Given the description of an element on the screen output the (x, y) to click on. 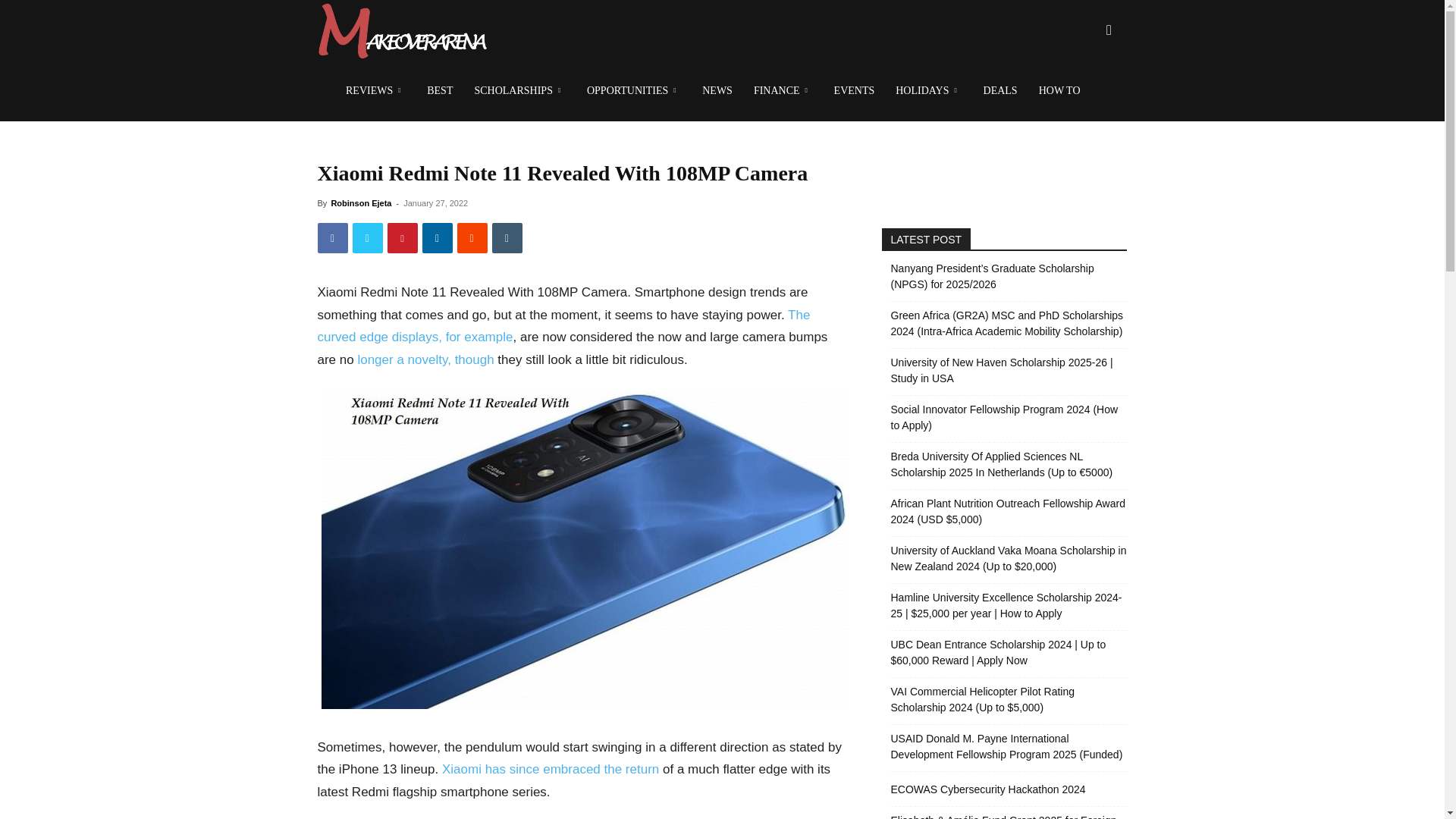
Tumblr (506, 237)
ReddIt (471, 237)
Twitter (366, 237)
Pinterest (401, 237)
Linkedin (436, 237)
Facebook (332, 237)
